Given the description of an element on the screen output the (x, y) to click on. 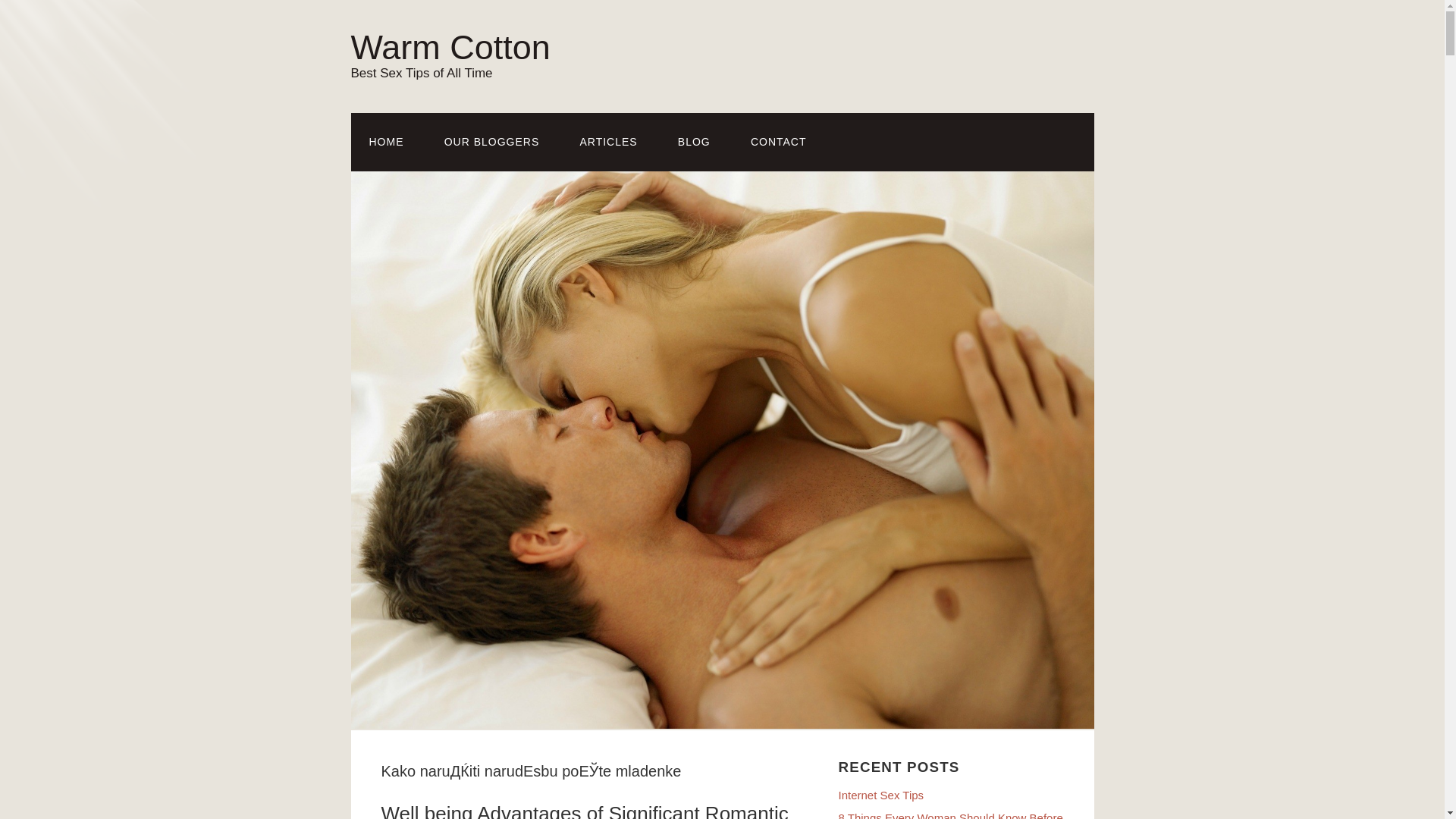
Warm Cotton (450, 46)
CONTACT (778, 142)
Warm Cotton (450, 46)
ARTICLES (607, 142)
Internet Sex Tips (881, 794)
Well being Advantages of Significant Romantic matchmaking (583, 810)
OUR BLOGGERS (491, 142)
HOME (386, 142)
BLOG (694, 142)
